Given the description of an element on the screen output the (x, y) to click on. 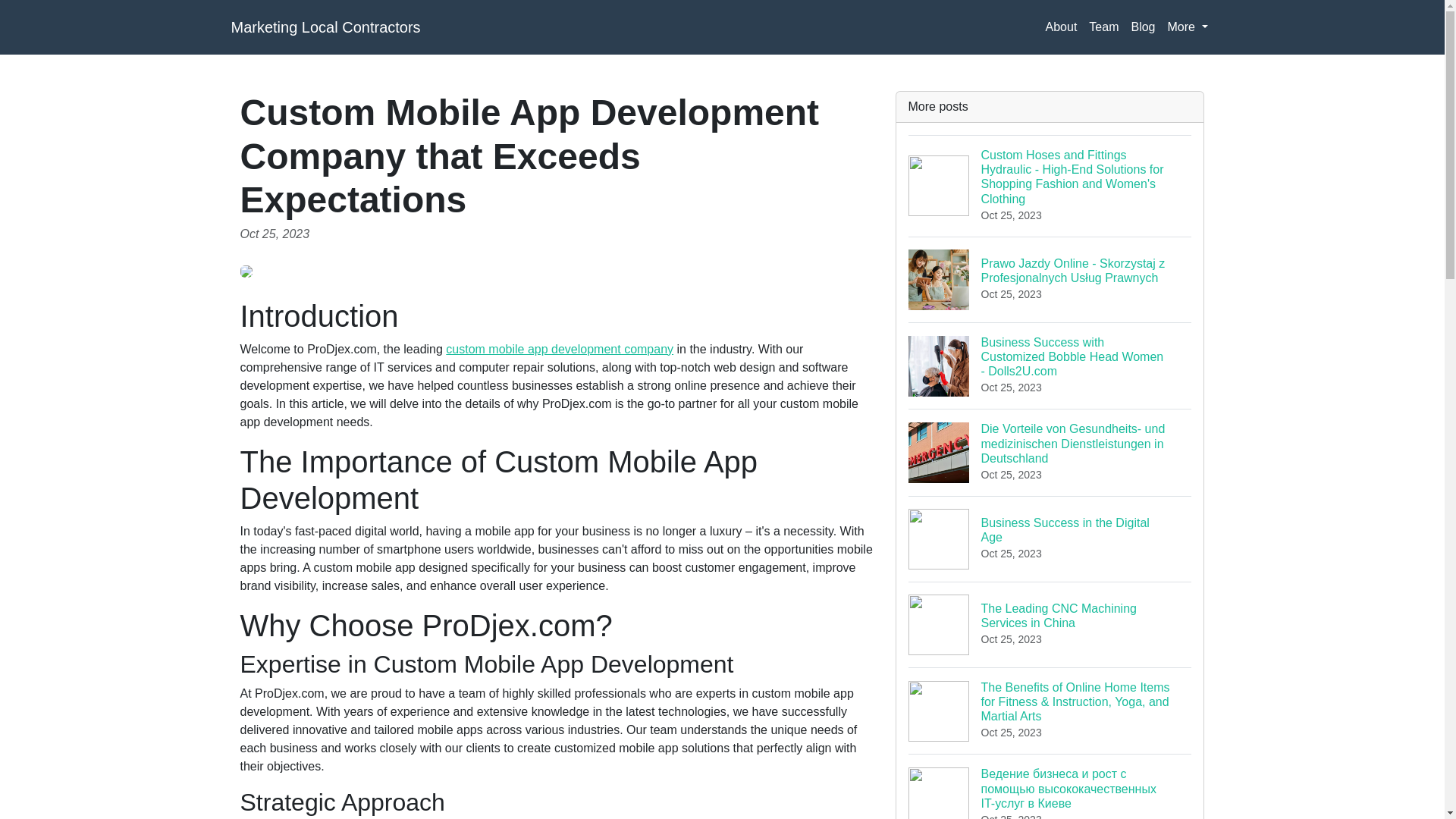
Team (1103, 27)
Blog (1050, 538)
About (1050, 624)
custom mobile app development company (1142, 27)
More (1061, 27)
